Given the description of an element on the screen output the (x, y) to click on. 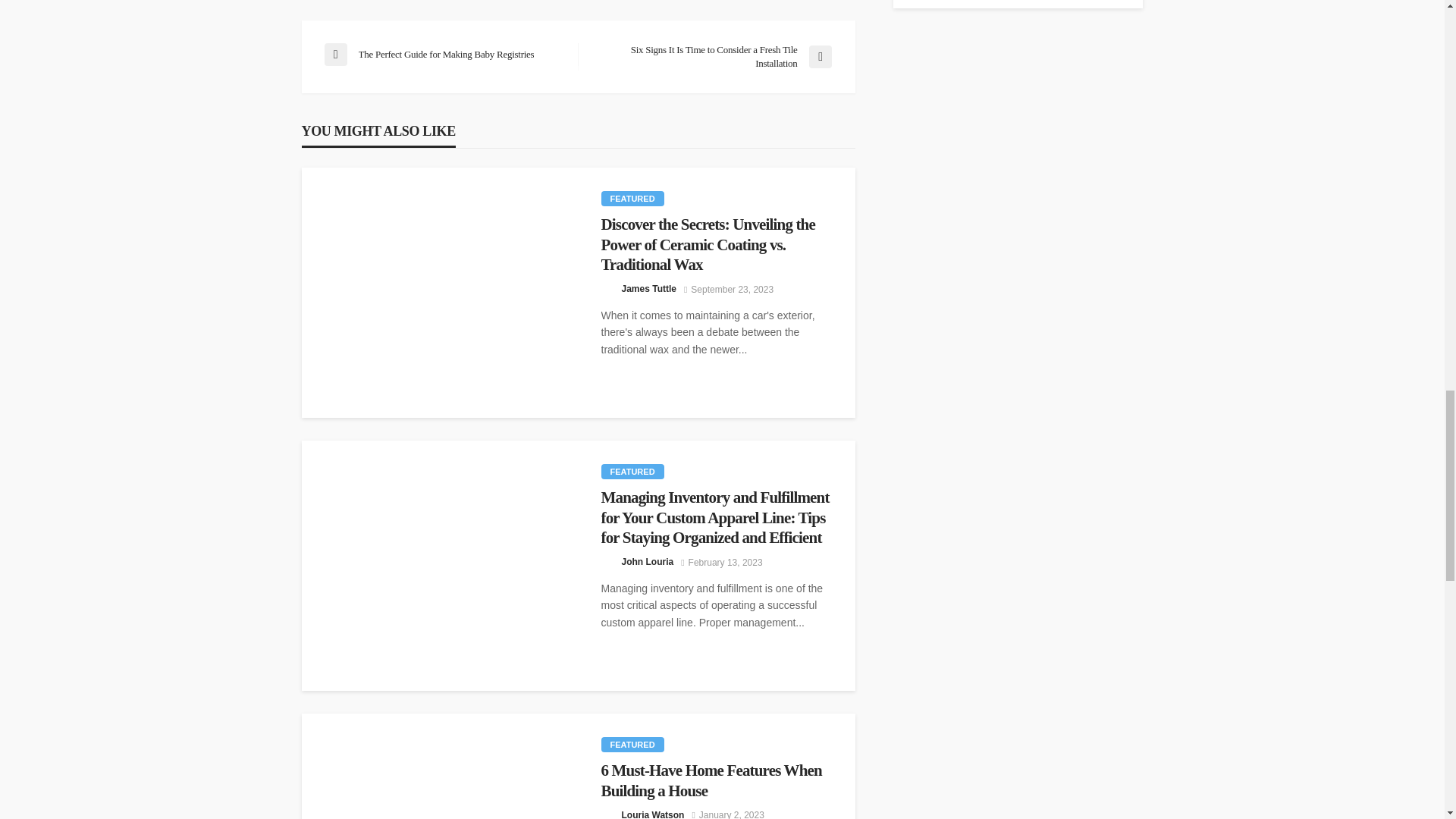
The Perfect Guide for Making Baby Registries (443, 54)
Featured (631, 198)
6 Must-Have Home Features When Building a House (439, 766)
6 Must-Have Home Features When Building a House (715, 780)
Six Signs It Is Time to Consider a Fresh Tile Installation (711, 56)
James Tuttle (649, 288)
FEATURED (631, 471)
